Given the description of an element on the screen output the (x, y) to click on. 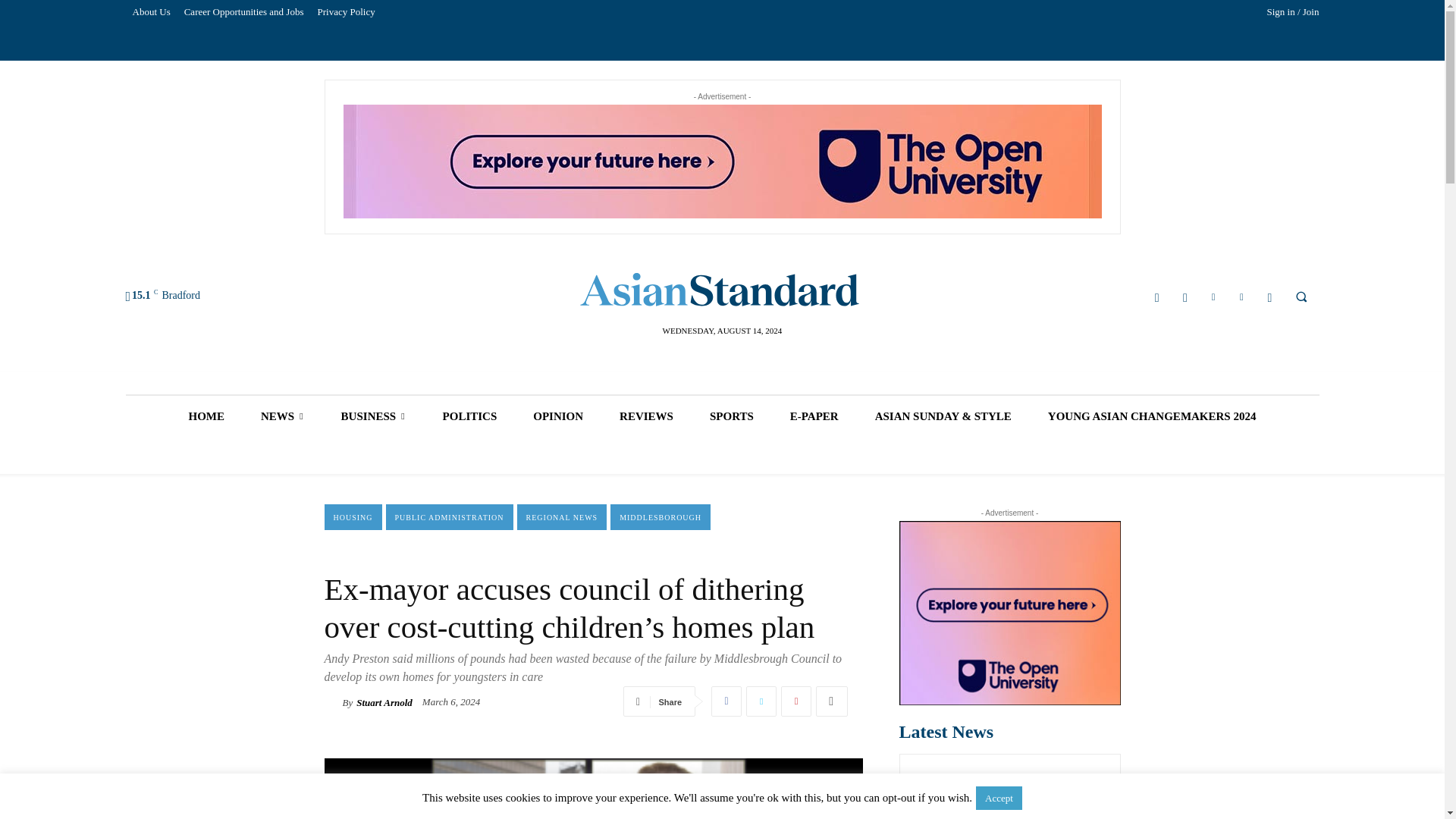
Instagram (1184, 297)
Pinterest (795, 701)
About Us (151, 12)
Linkedin (1214, 297)
Twitter (760, 701)
Youtube (1269, 297)
Facebook (1157, 297)
Career Opportunities and Jobs (244, 12)
Twitter (1241, 297)
